Given the description of an element on the screen output the (x, y) to click on. 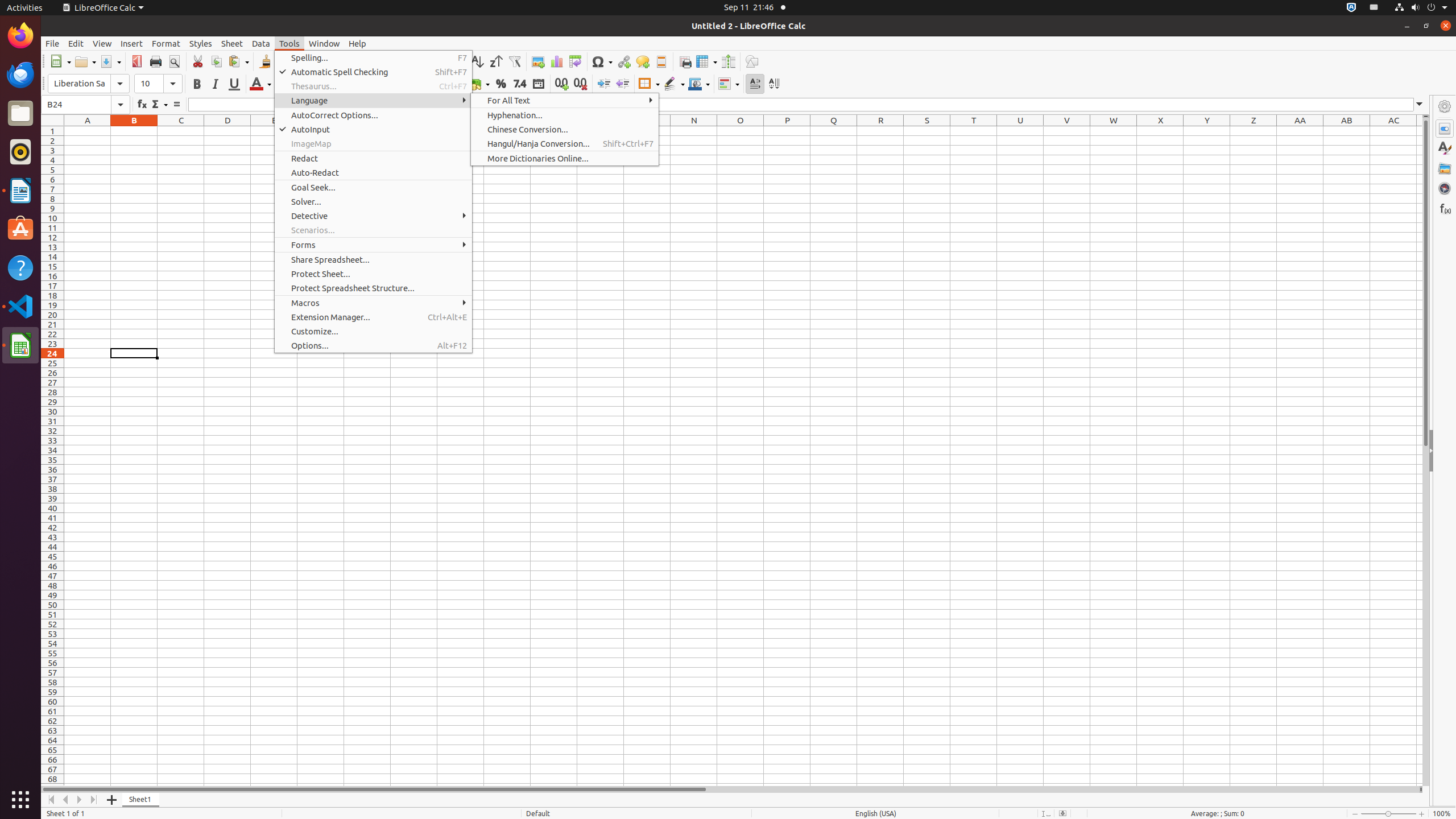
F1 Element type: table-cell (320, 130)
Vertical scroll bar Element type: scroll-bar (1425, 451)
Trash Element type: label (75, 108)
